Given the description of an element on the screen output the (x, y) to click on. 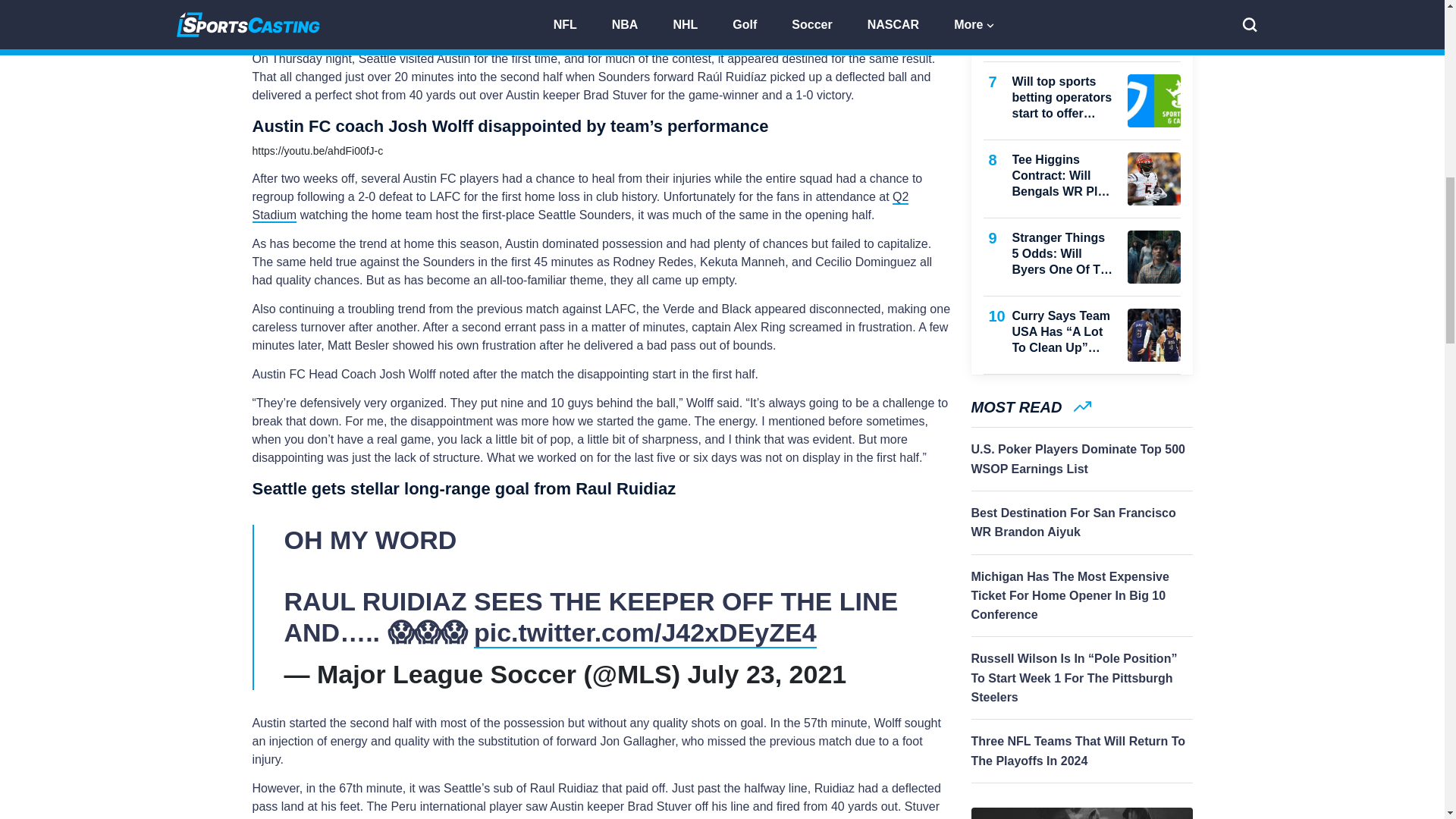
Western Conference (534, 11)
Seattle Sounders (322, 11)
